Given the description of an element on the screen output the (x, y) to click on. 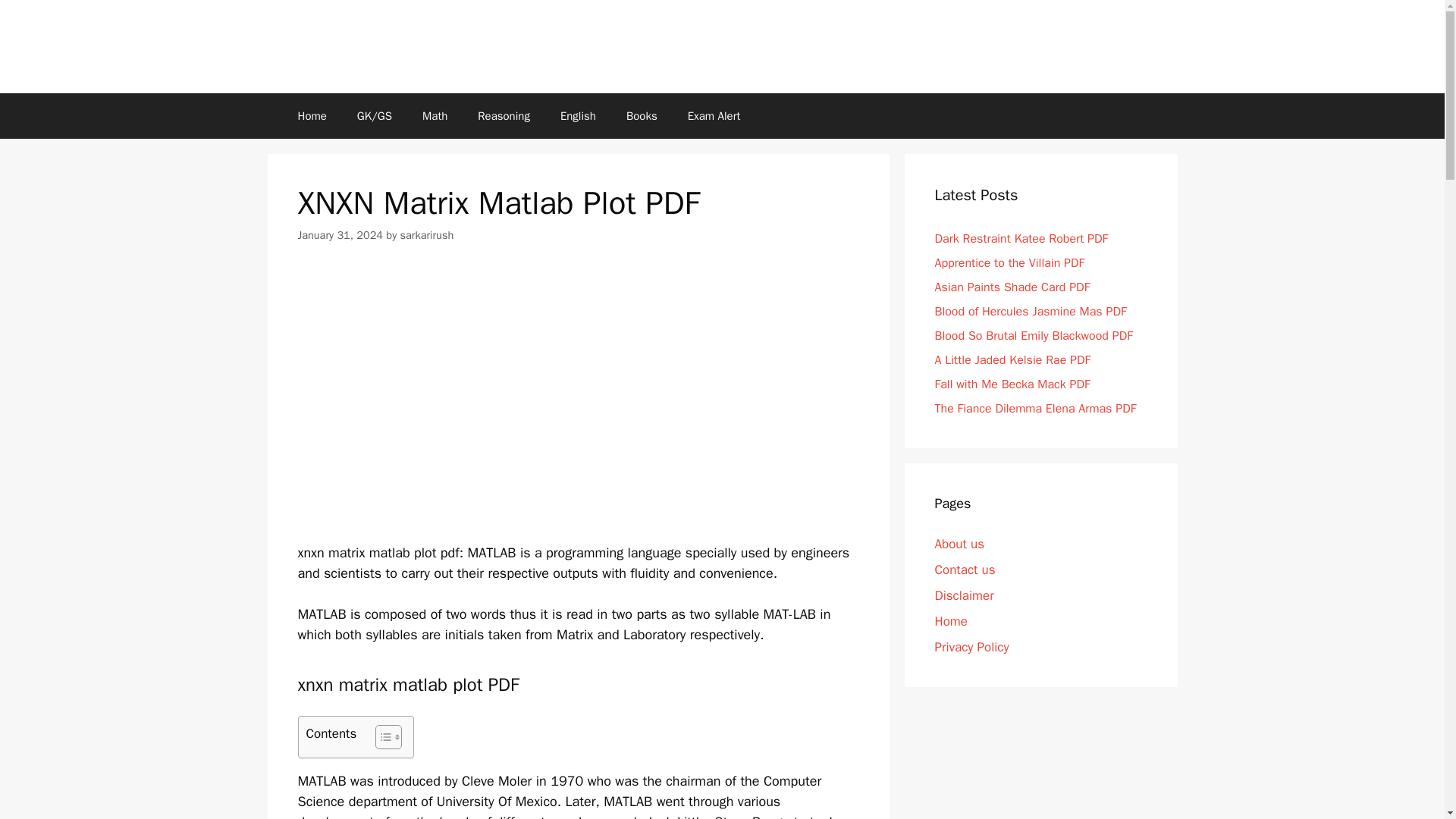
English (577, 115)
Reasoning (503, 115)
Math (435, 115)
Home (311, 115)
View all posts by sarkarirush (427, 234)
sarkarirush (427, 234)
Books (641, 115)
Exam Alert (713, 115)
